Given the description of an element on the screen output the (x, y) to click on. 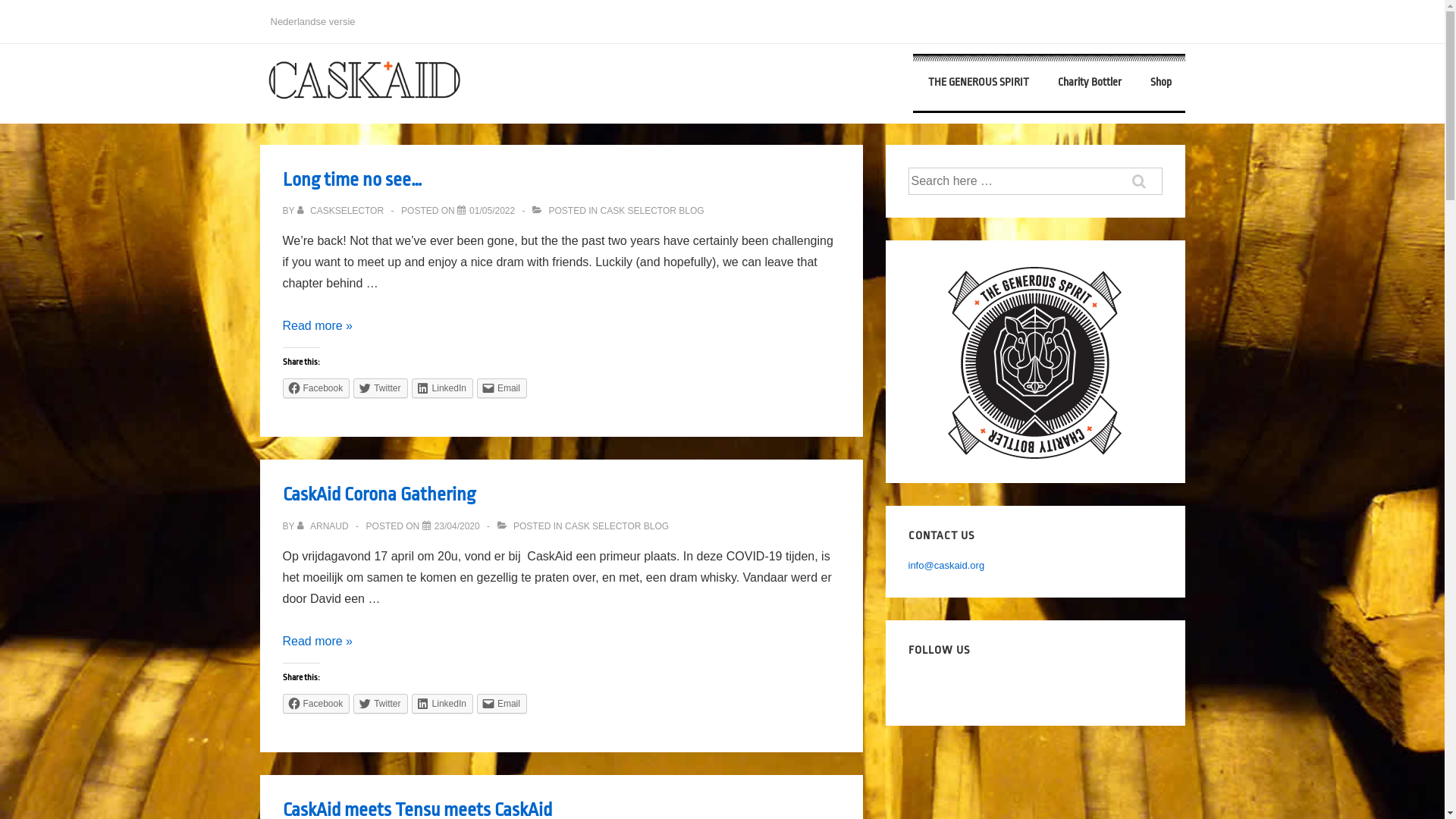
Facebook Element type: text (315, 703)
CASK SELECTOR BLOG Element type: text (651, 210)
Twitter Element type: text (380, 703)
LinkedIn Element type: text (442, 703)
Email Element type: text (501, 388)
Charity Bottler Element type: text (1088, 81)
Email Element type: text (501, 703)
CASK SELECTOR BLOG Element type: text (616, 525)
ARNAUD Element type: text (324, 525)
Twitter Element type: text (380, 388)
Nederlandse versie Element type: text (311, 21)
01/05/2022 Element type: text (491, 210)
info@caskaid.org Element type: text (946, 565)
CaskAid Corona Gathering Element type: text (378, 494)
Facebook Element type: text (315, 388)
23/04/2020 Element type: text (457, 525)
THE GENEROUS SPIRIT Element type: text (978, 81)
LinkedIn Element type: text (442, 388)
CASKSELECTOR Element type: text (341, 210)
Shop Element type: text (1159, 81)
